Given the description of an element on the screen output the (x, y) to click on. 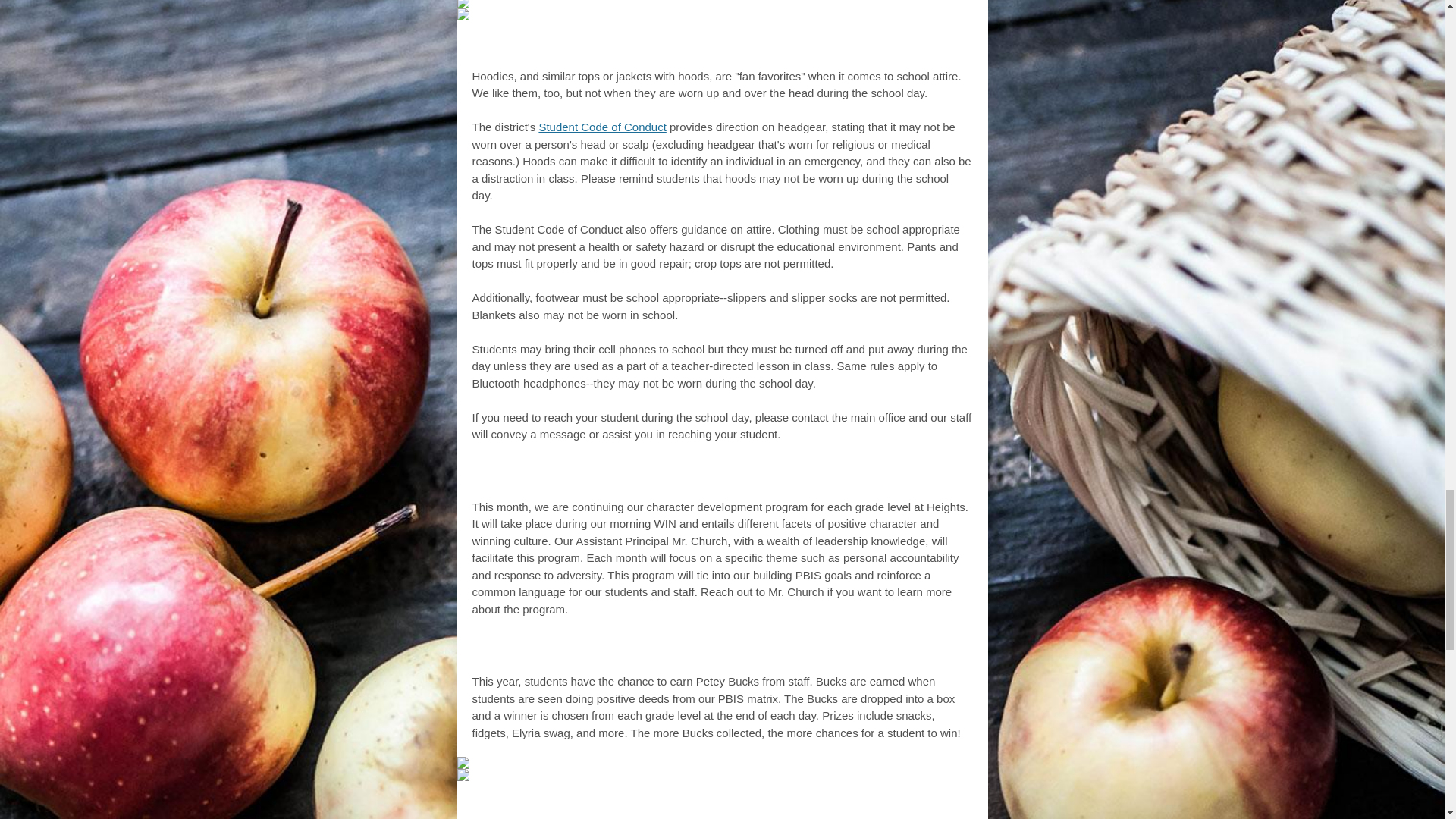
Petey (693, 651)
Attire (804, 47)
Mondays (805, 476)
Phones (696, 47)
Cell (637, 47)
and (757, 47)
Personal (636, 476)
Growth (719, 476)
Student Code of Conduct (601, 126)
